Given the description of an element on the screen output the (x, y) to click on. 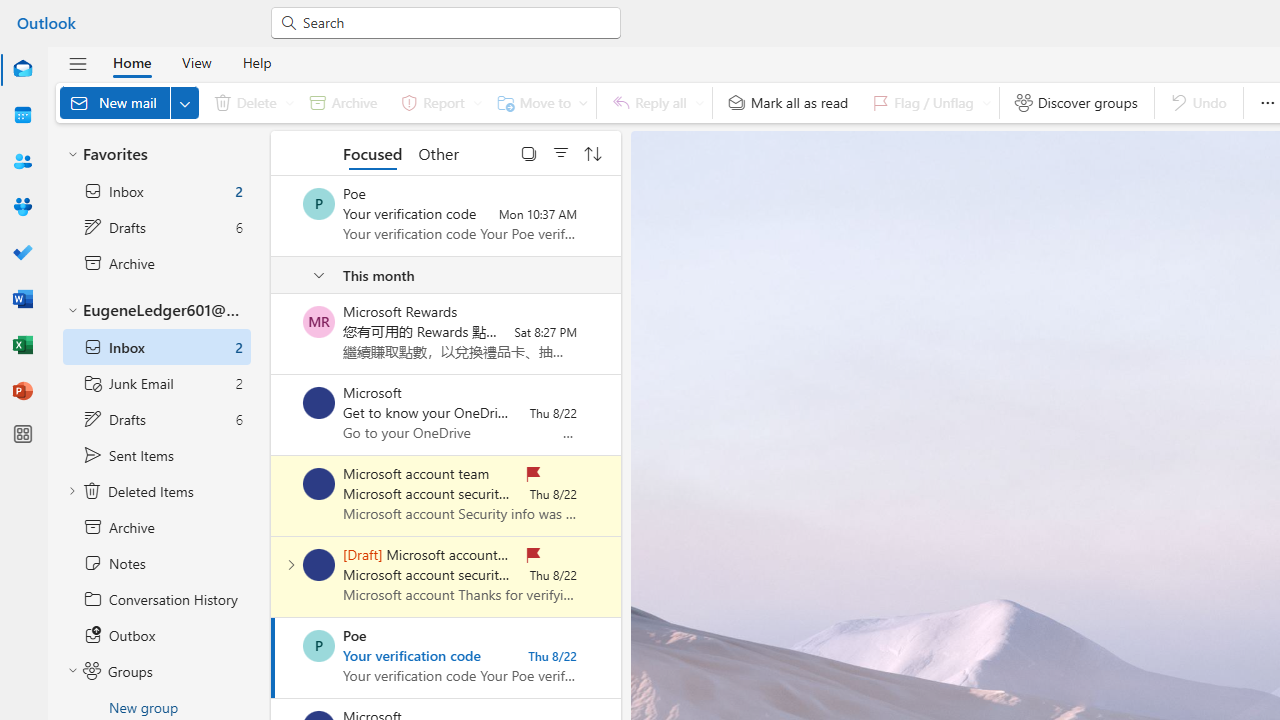
Reply all (654, 102)
Expand to see flag options (985, 102)
Groups (22, 207)
Mail (22, 69)
Expand to see more New options (184, 102)
Filter (561, 152)
Focused (372, 152)
People (22, 161)
Mark as unread (273, 577)
View (196, 61)
Expand to see delete options (289, 102)
PowerPoint (22, 391)
Other (438, 152)
